Given the description of an element on the screen output the (x, y) to click on. 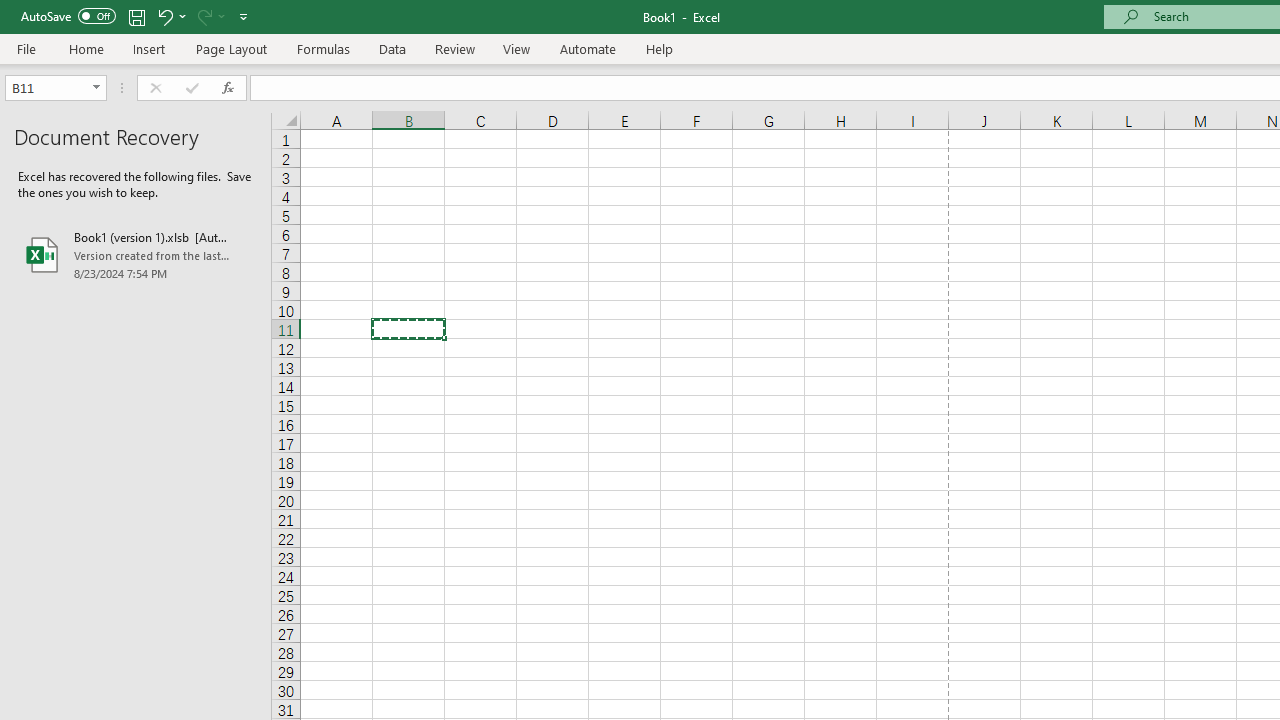
AutoSave (68, 16)
Book1 (version 1).xlsb  [AutoRecovered] (136, 254)
